Given the description of an element on the screen output the (x, y) to click on. 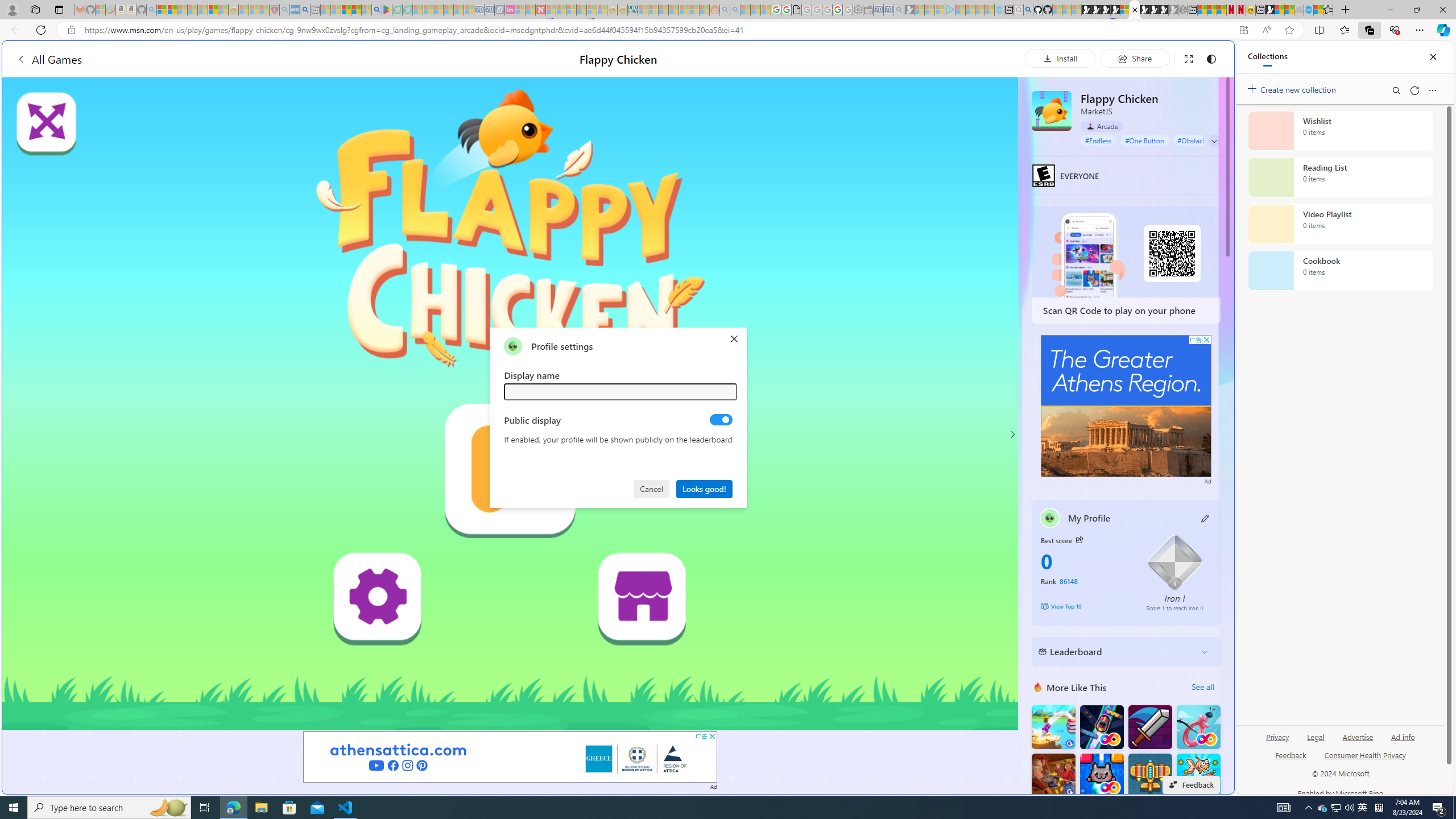
All Games (49, 58)
AutomationID: canvas (509, 403)
